Given the description of an element on the screen output the (x, y) to click on. 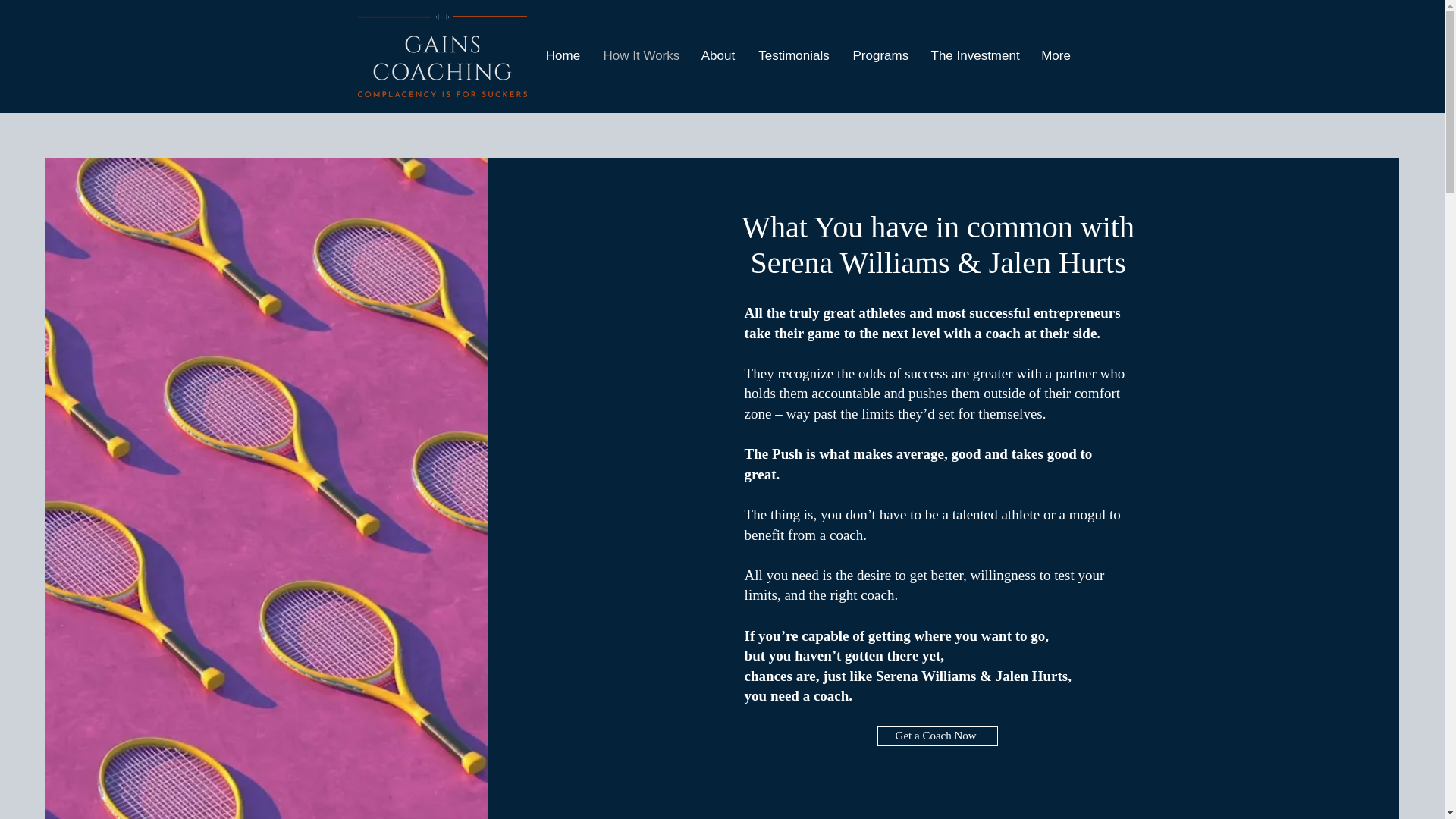
Homepage (442, 55)
Home (562, 55)
How It Works (639, 55)
The Investment (973, 55)
About (718, 55)
Get a Coach Now (937, 736)
Programs (880, 55)
Testimonials (793, 55)
